Given the description of an element on the screen output the (x, y) to click on. 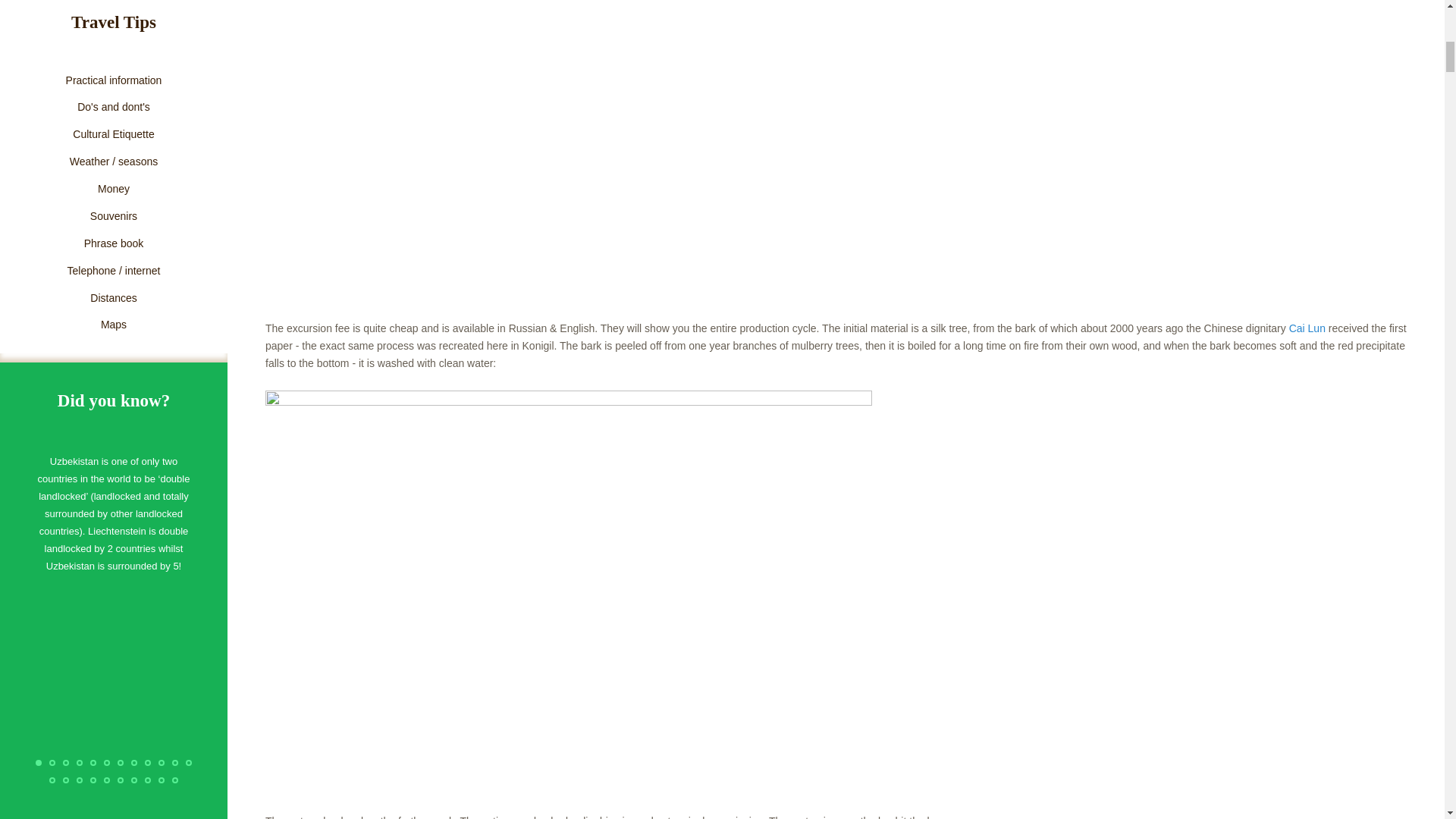
Cultural Etiquette (113, 135)
Souvenirs (113, 216)
Do's and dont's (113, 107)
Money (113, 189)
Practical information (113, 80)
